Given the description of an element on the screen output the (x, y) to click on. 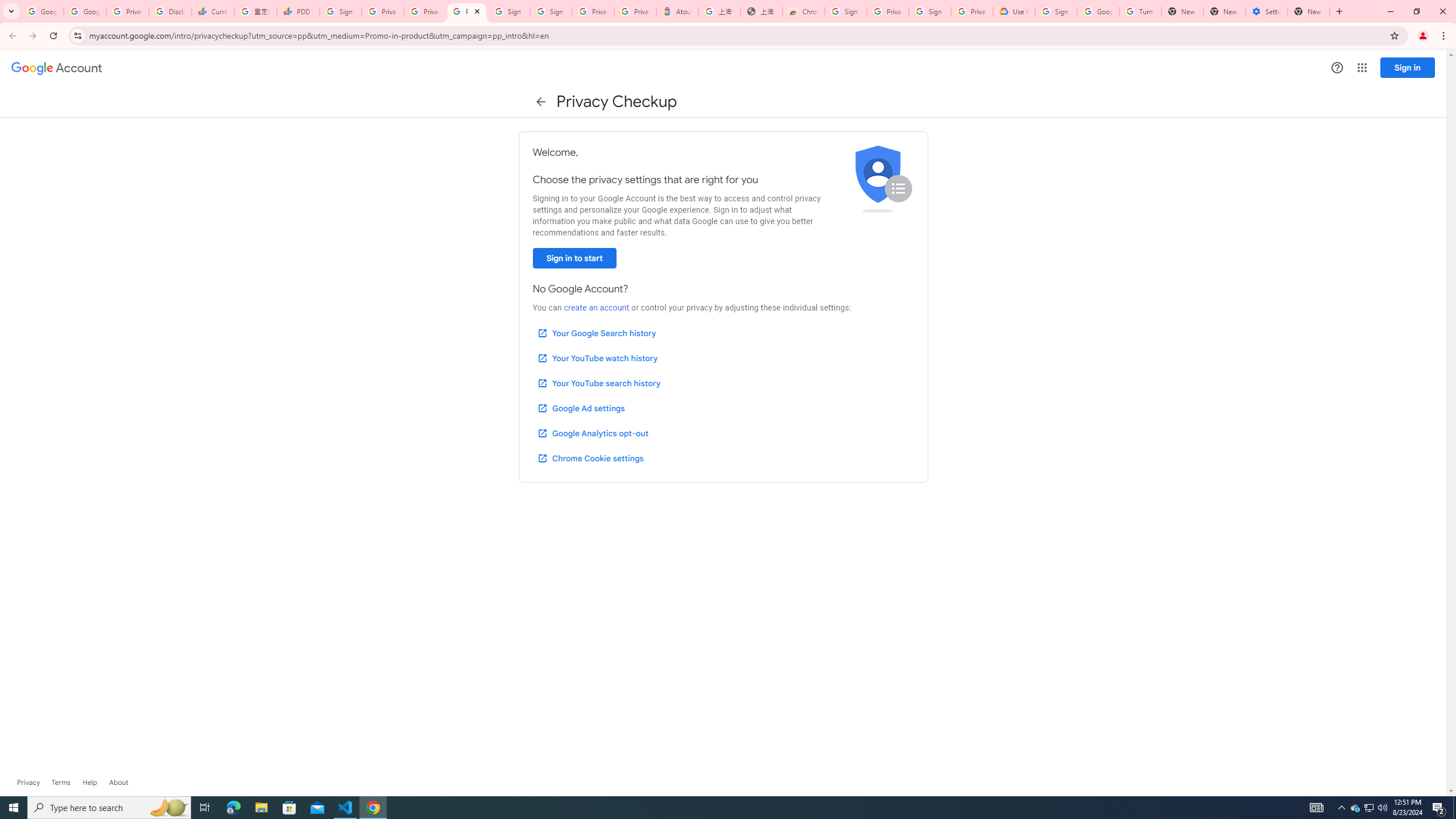
Atour Hotel - Google hotels (676, 11)
Google Account settings (56, 68)
Sign in - Google Accounts (1055, 11)
Chrome Web Store - Color themes by Chrome (803, 11)
Learn more about Google Account (118, 782)
